Given the description of an element on the screen output the (x, y) to click on. 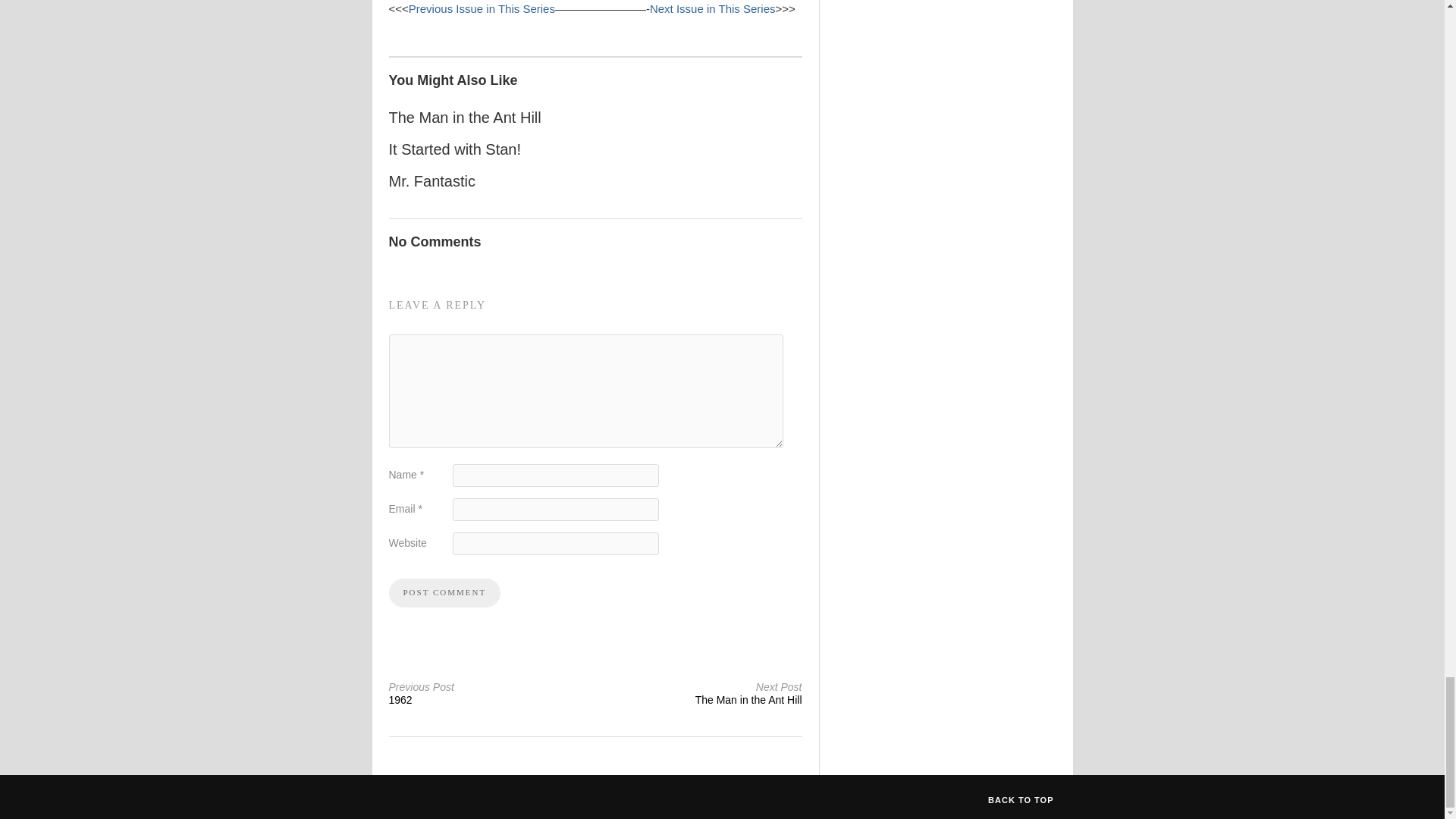
The Man in the Ant Hill (488, 692)
Post Comment (464, 117)
It Started with Stan! (444, 592)
Post Comment (454, 149)
Previous Issue in This Series (444, 592)
Mr. Fantastic (481, 8)
Next Issue in This Series (700, 692)
